Given the description of an element on the screen output the (x, y) to click on. 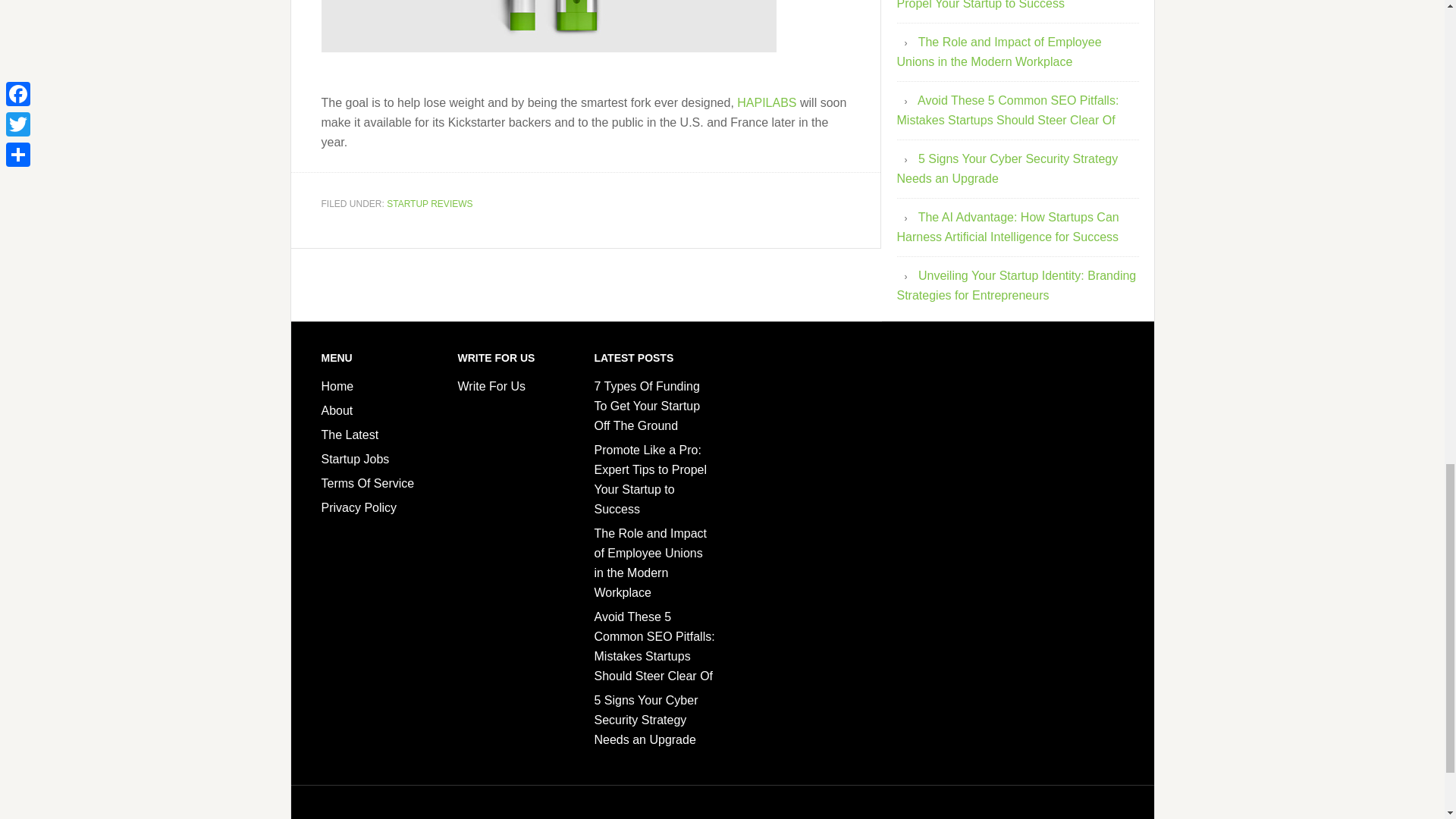
7 Types Of Funding To Get Your Startup Off The Ground (647, 406)
Startup Jobs (355, 459)
Write For Us (491, 386)
STARTUP REVIEWS (429, 204)
5 Signs Your Cyber Security Strategy Needs an Upgrade (1007, 168)
The Latest (349, 434)
HAPILABS (766, 101)
Privacy Policy (359, 507)
Home (337, 386)
Terms Of Service (367, 482)
